Given the description of an element on the screen output the (x, y) to click on. 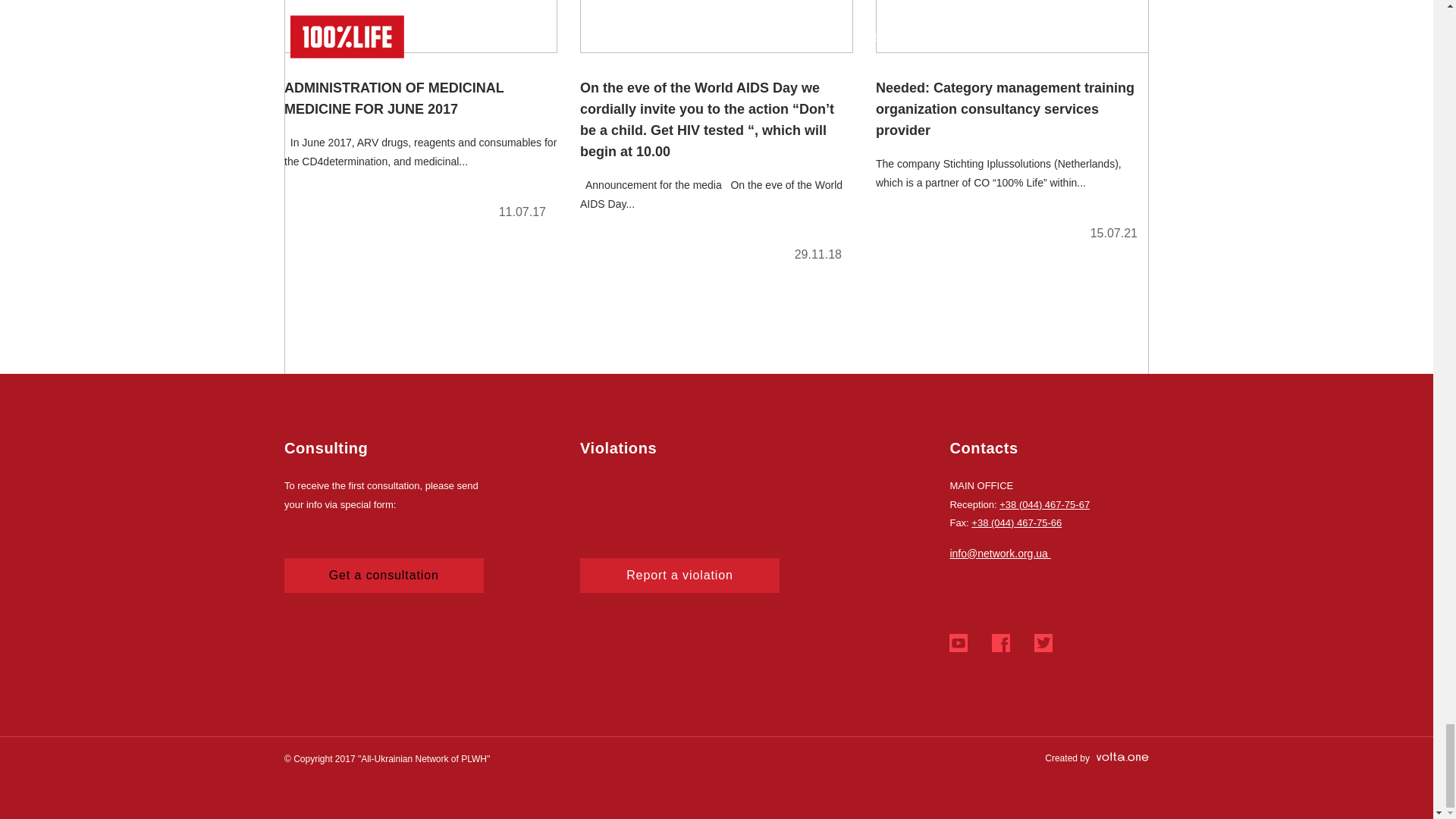
Get a consultation (383, 574)
Report a violation (678, 574)
Get a consultation (383, 574)
Report a violation (678, 574)
Created by (1096, 757)
ADMINISTRATION OF MEDICINAL MEDICINE FOR JUNE 2017 (420, 116)
